Given the description of an element on the screen output the (x, y) to click on. 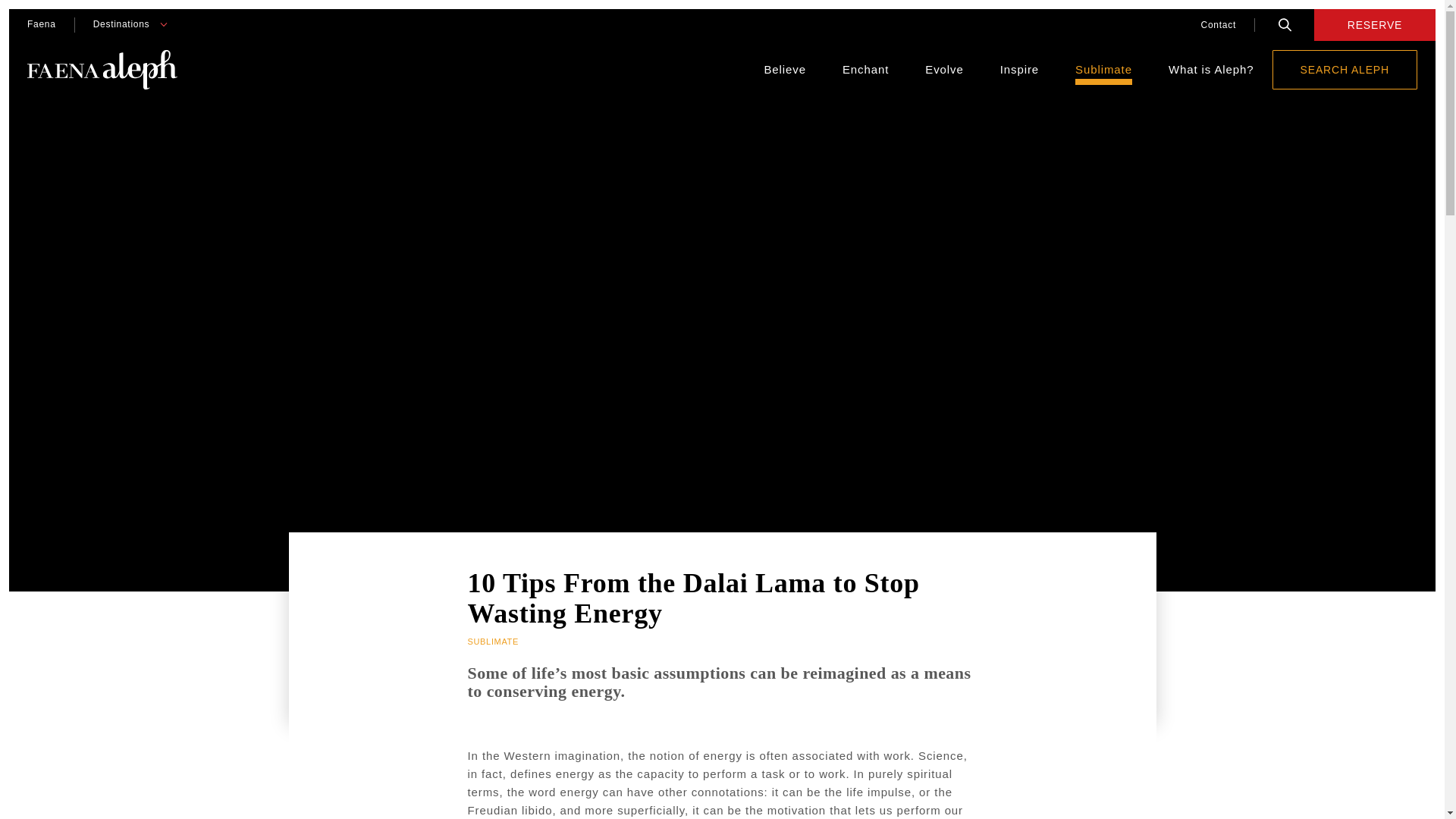
Evolve (943, 69)
Destinations (121, 23)
Contact (1217, 24)
Inspire (1019, 69)
Believe (784, 69)
Search (1284, 24)
What is Aleph? (1211, 69)
Enchant (865, 69)
SEARCH ALEPH (1344, 69)
Faena (41, 23)
